Given the description of an element on the screen output the (x, y) to click on. 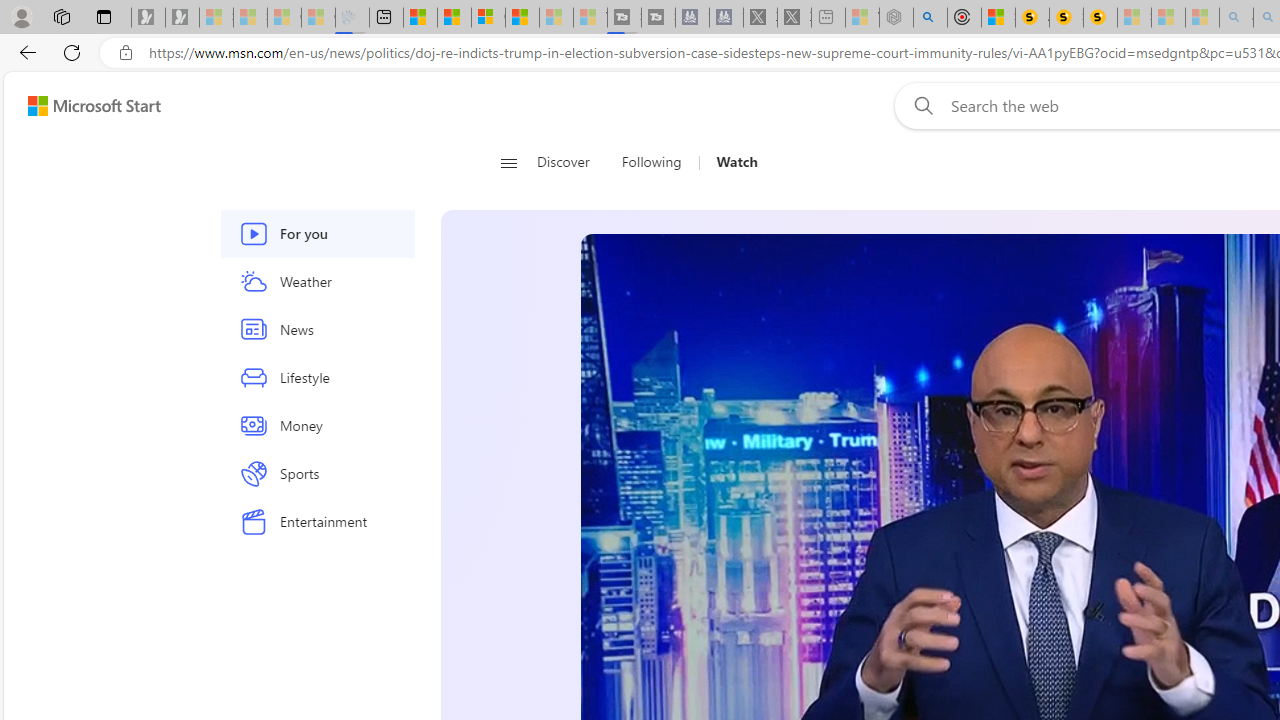
Web search (919, 105)
New tab - Sleeping (827, 17)
Watch (729, 162)
Following (651, 162)
Newsletter Sign Up - Sleeping (182, 17)
Personal Profile (21, 16)
Refresh (72, 52)
Streaming Coverage | T3 - Sleeping (624, 17)
Back (24, 52)
Skip to content (86, 105)
